Given the description of an element on the screen output the (x, y) to click on. 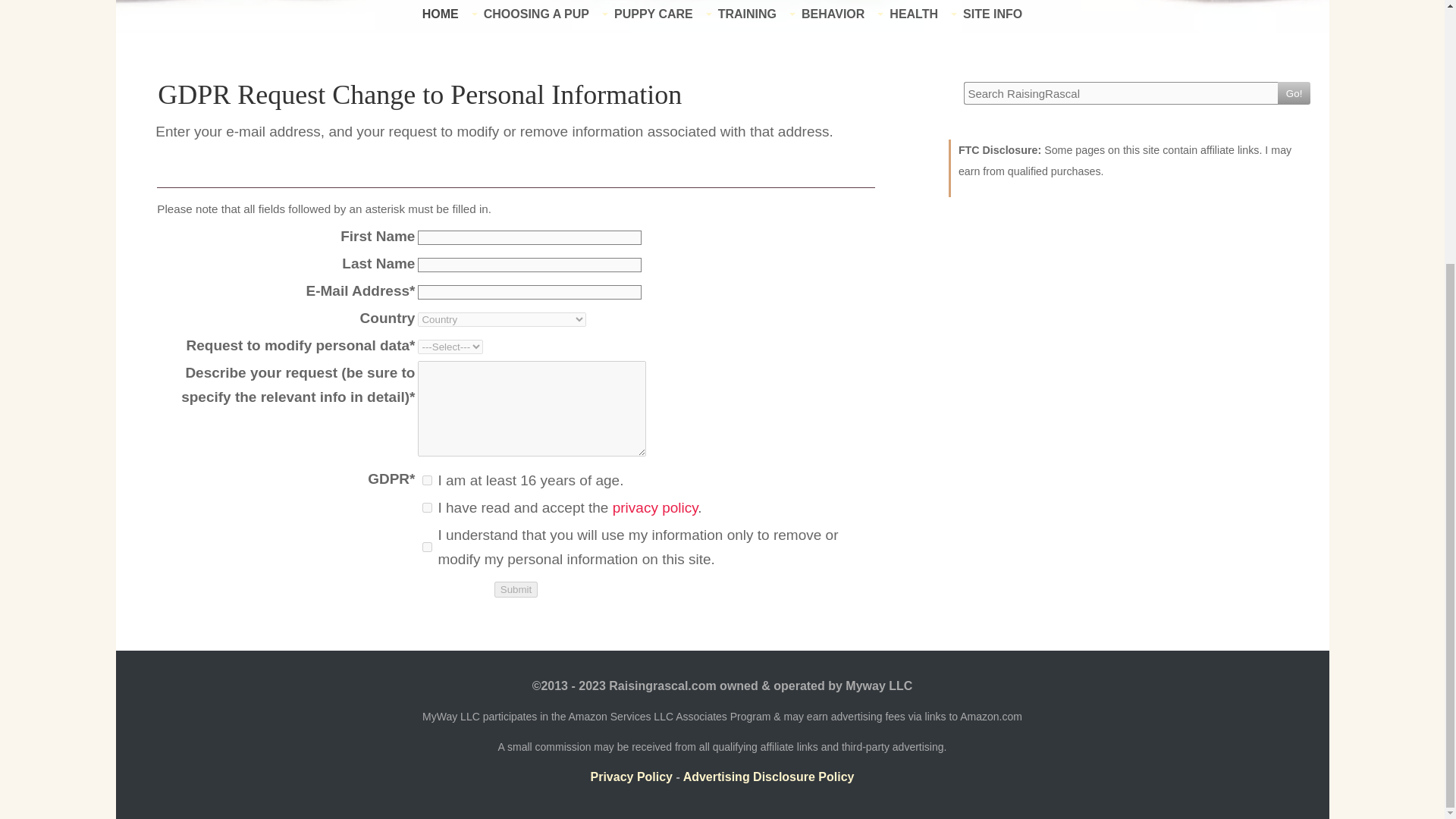
Submit (516, 588)
Privacy Policy (630, 776)
I am at least 16 years of age. (427, 479)
Submit (516, 588)
HOME (440, 14)
privacy policy (655, 506)
Advertising Disclosure Policy (768, 776)
Go! (1294, 92)
